Given the description of an element on the screen output the (x, y) to click on. 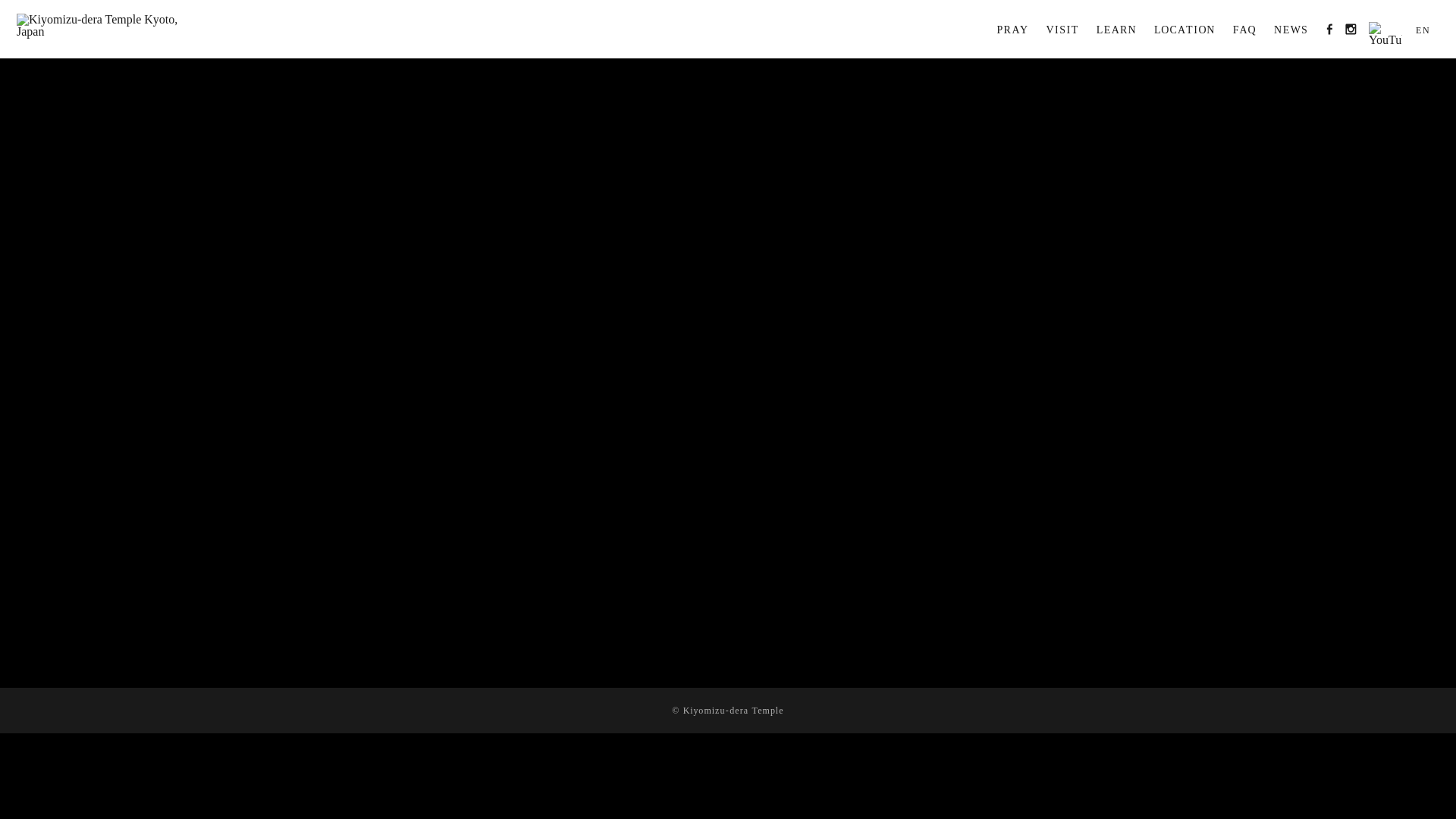
VISIT (1061, 27)
PRAY (1011, 27)
NEWS (1290, 27)
LOCATION (1184, 27)
LEARN (1115, 27)
